Given the description of an element on the screen output the (x, y) to click on. 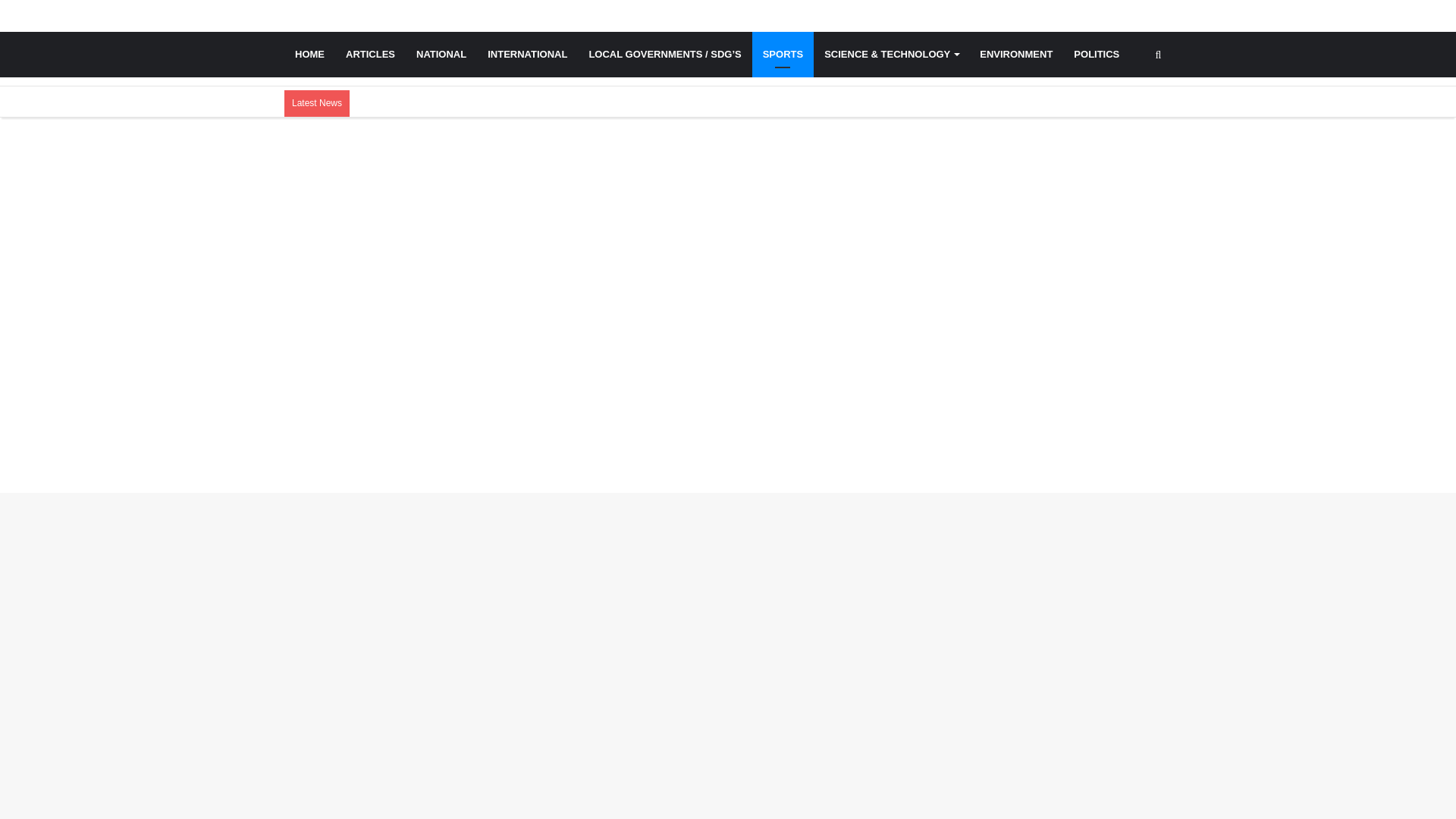
INTERNATIONAL (527, 53)
ARTICLES (370, 53)
HOME (308, 53)
NATIONAL (441, 53)
SPORTS (782, 53)
ENVIRONMENT (1015, 53)
POLITICS (1095, 53)
